Given the description of an element on the screen output the (x, y) to click on. 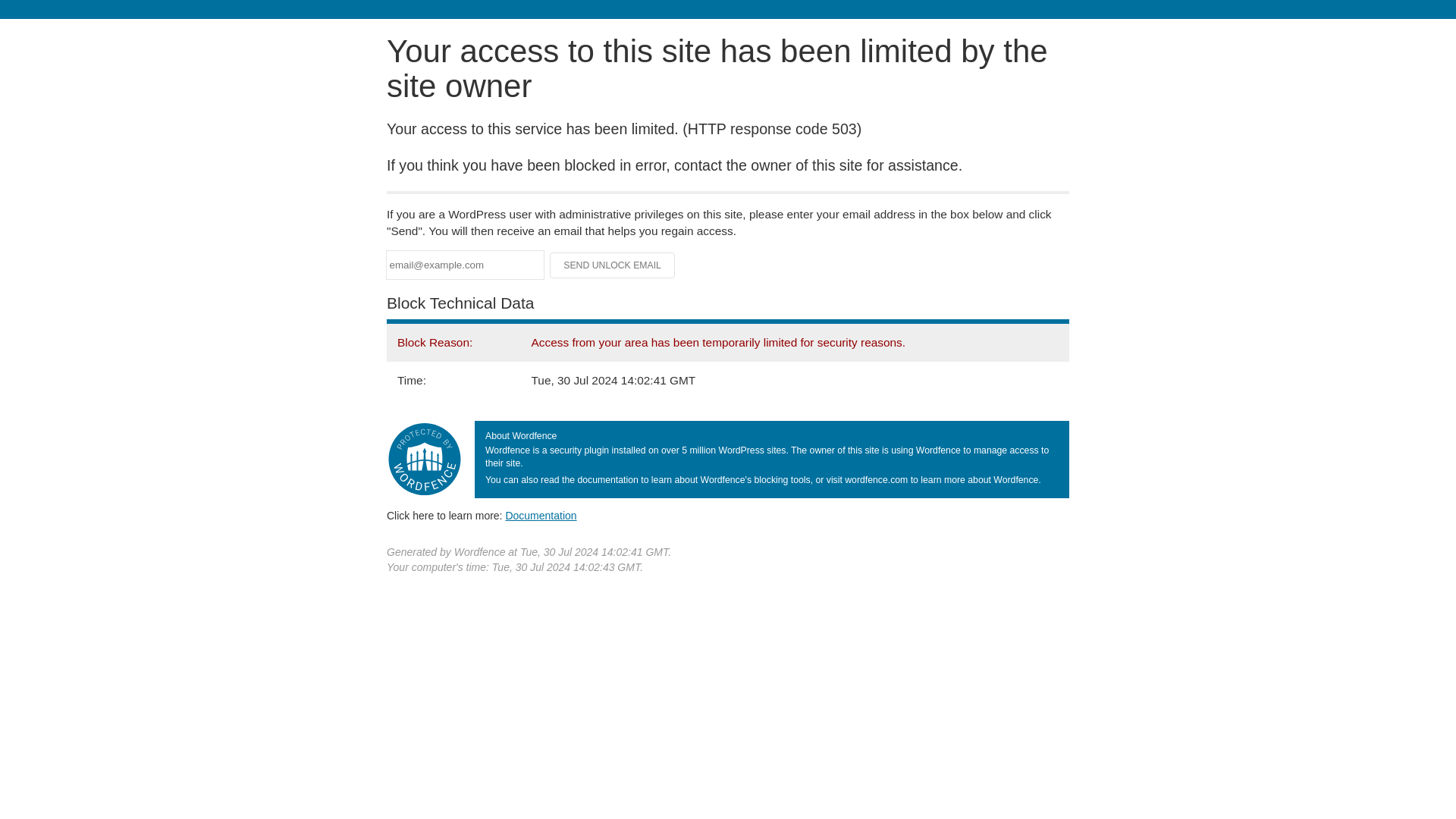
Send Unlock Email (612, 265)
Send Unlock Email (612, 265)
Documentation (540, 515)
